Given the description of an element on the screen output the (x, y) to click on. 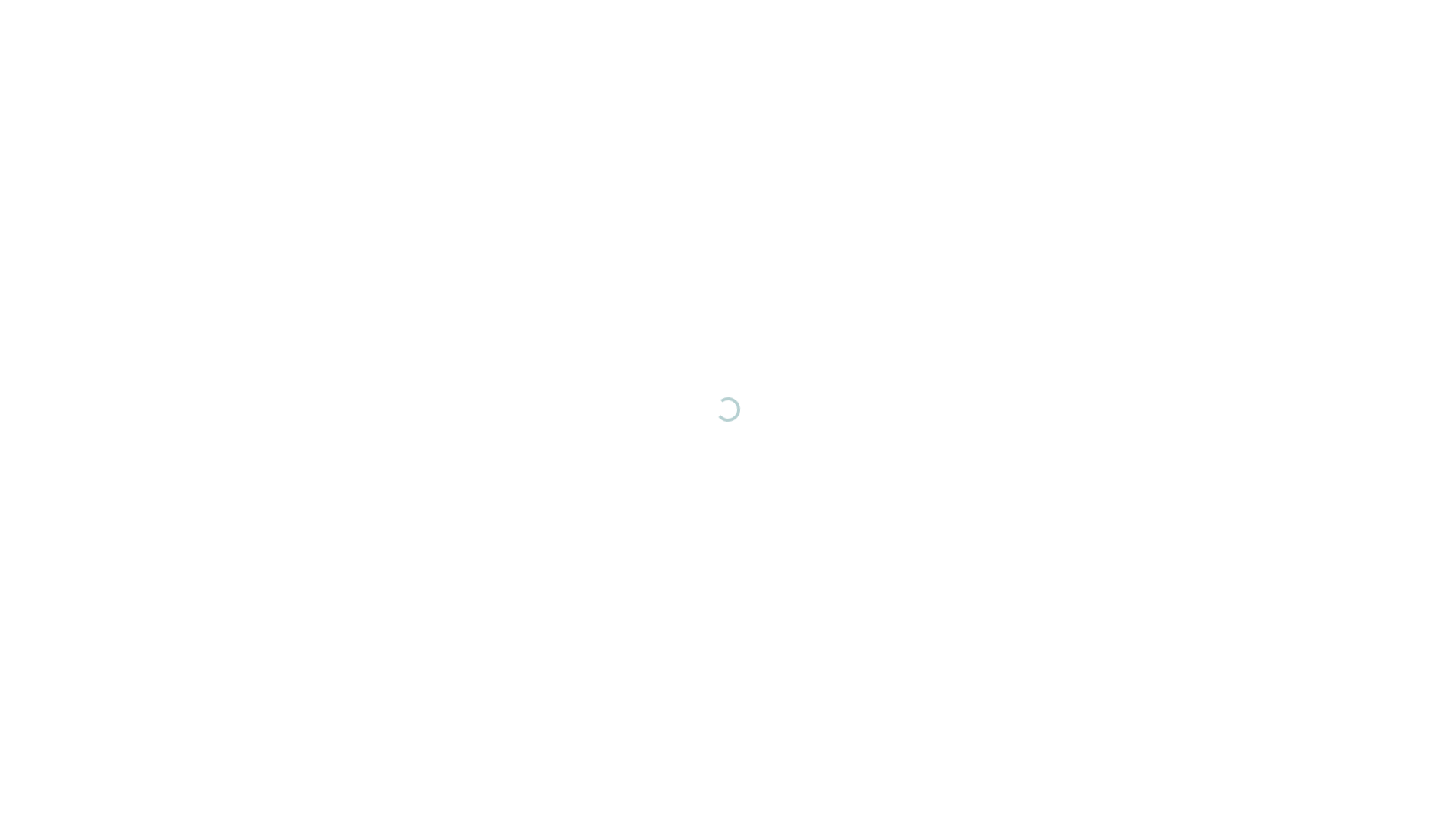
Jhuny Element type: text (791, 284)
Read more Element type: text (1081, 501)
Dance Makers Collective Element type: text (353, 37)
Join Us Element type: text (314, 799)
Anya McKee Element type: text (753, 268)
Account Element type: text (1131, 37)
Menu Element type: text (1204, 37)
Website terms of use Element type: text (446, 134)
Sign up Element type: text (262, 799)
Privacy policy Element type: text (564, 152)
Cart Element type: text (1167, 37)
To top Element type: text (1207, 799)
contact@dancemakerscollective.com.au Element type: text (352, 97)
